Given the description of an element on the screen output the (x, y) to click on. 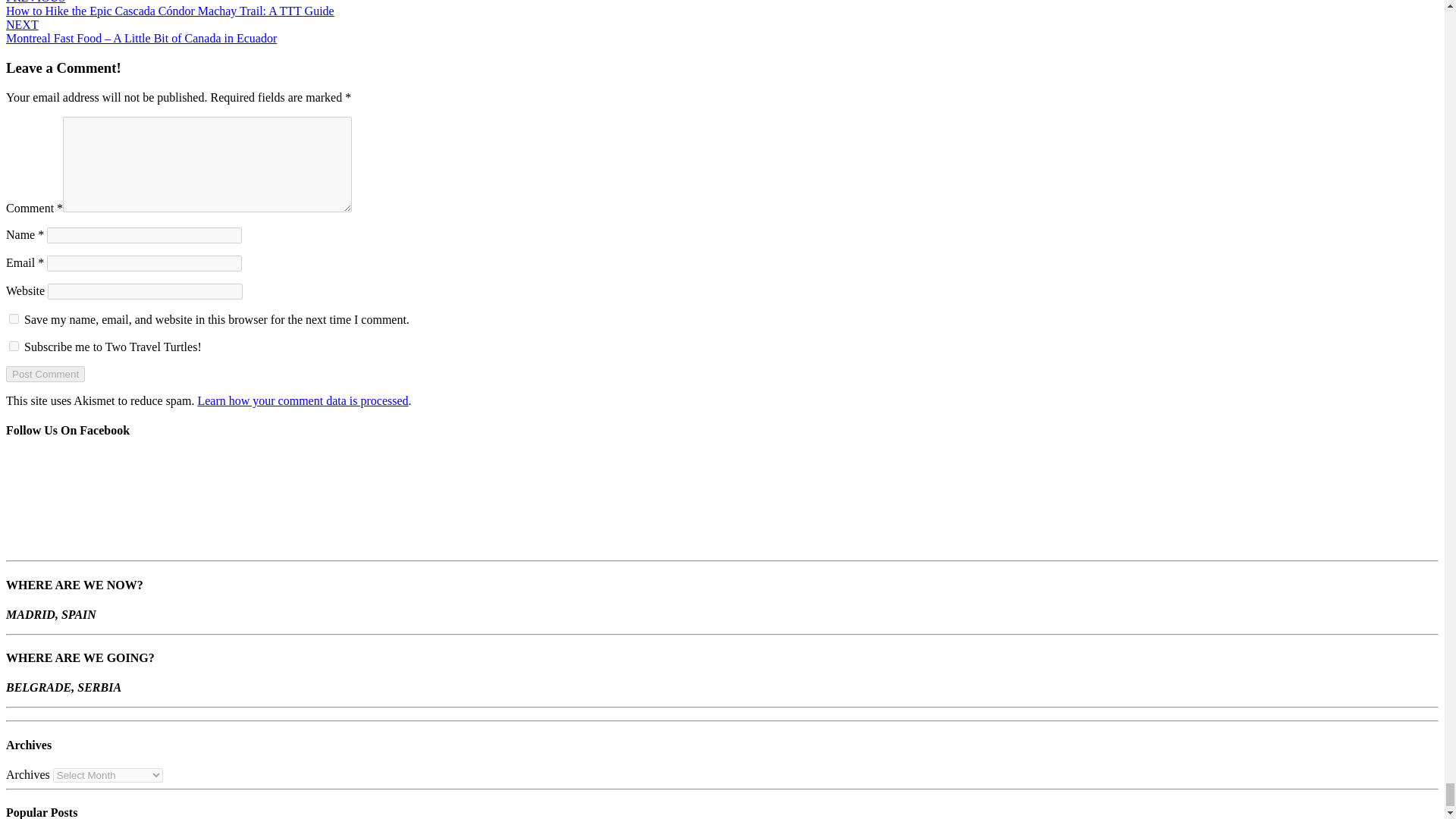
yes (13, 318)
1 (13, 346)
Post Comment (44, 374)
